Given the description of an element on the screen output the (x, y) to click on. 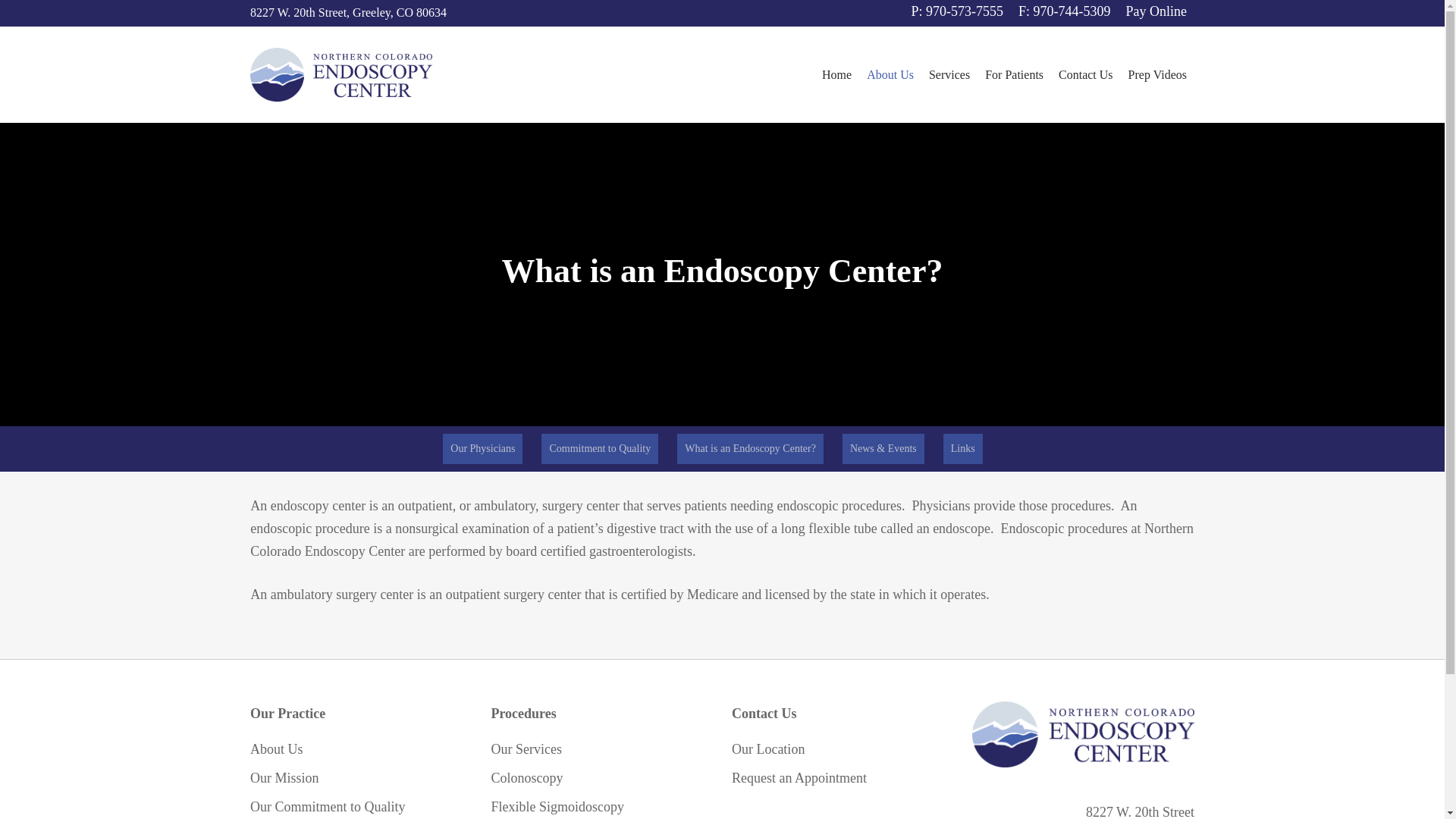
F: 970-744-5309 (1064, 11)
Pay Online (1155, 11)
About Us (890, 74)
P: 970-573-7555 (957, 11)
Services (948, 74)
For Patients (1013, 74)
Home (836, 74)
Prep Videos (1157, 74)
Contact Us (1086, 74)
